Given the description of an element on the screen output the (x, y) to click on. 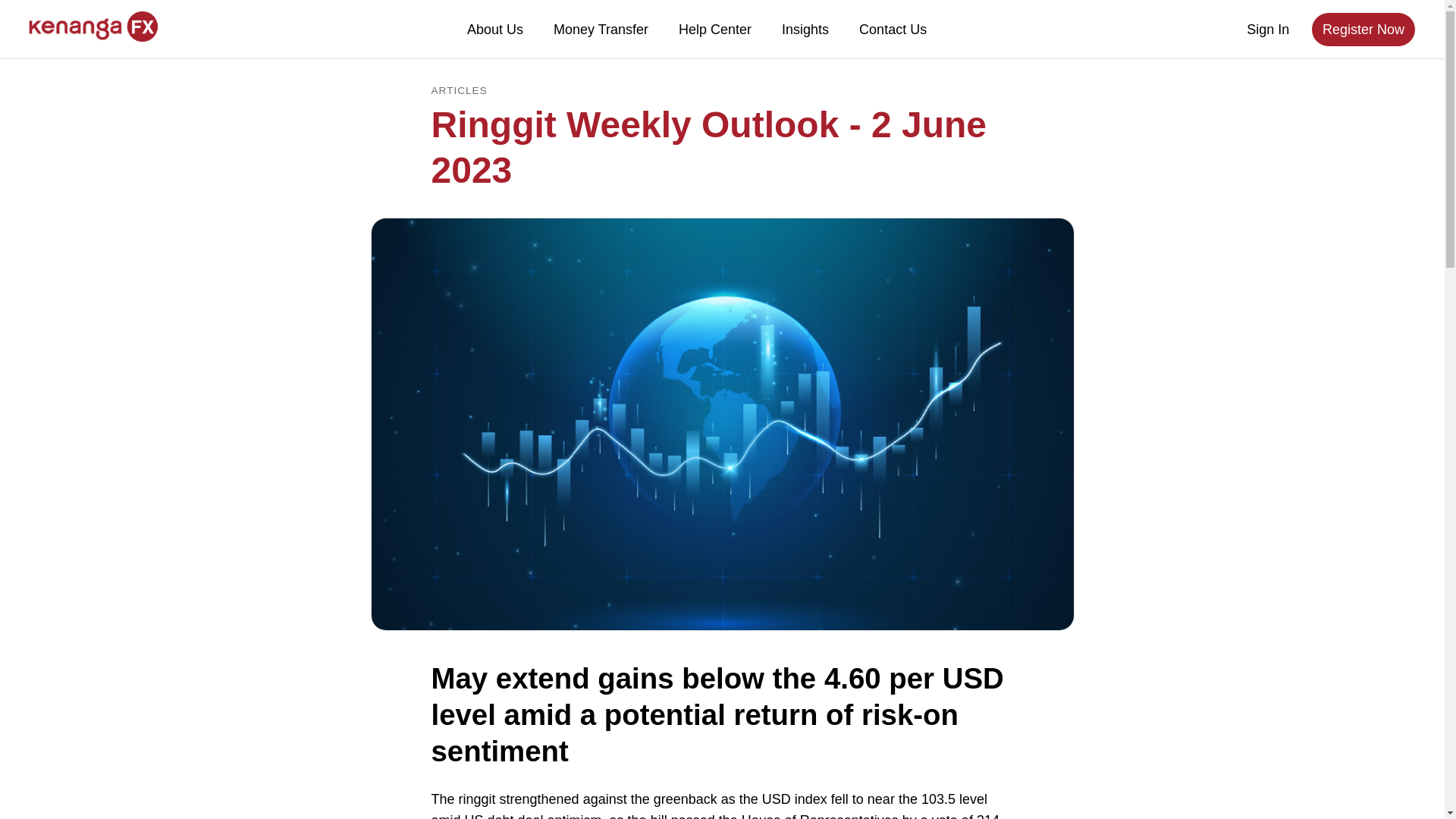
Help Center (715, 29)
Contact Us (893, 29)
Register Now (1363, 29)
Sign In (1268, 29)
ARTICLES (458, 90)
Money Transfer (600, 29)
Insights (805, 29)
About Us (494, 29)
